Given the description of an element on the screen output the (x, y) to click on. 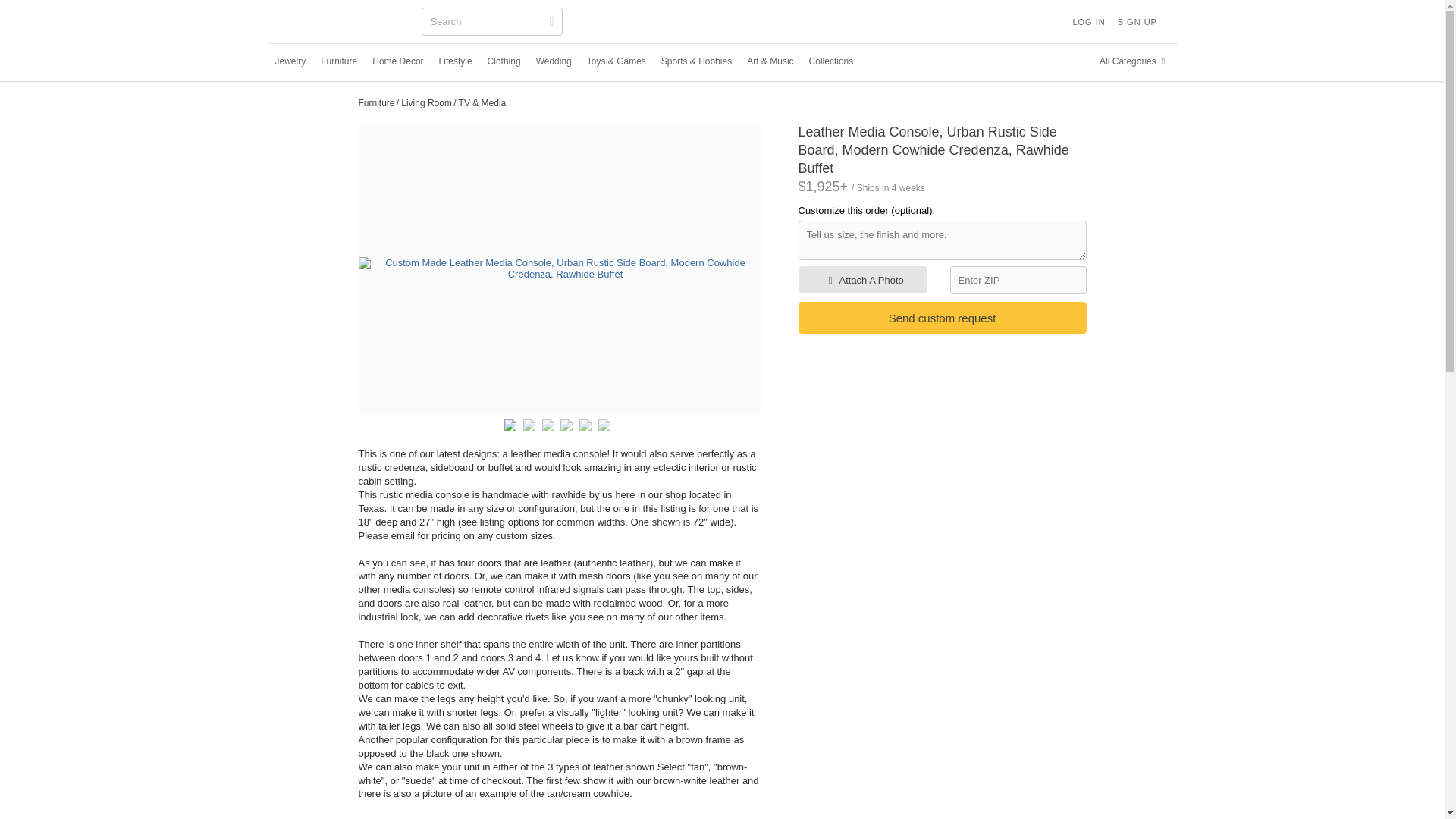
Log in to CustomMade (1087, 21)
Jewelry (289, 61)
Custom Jewelry (289, 61)
CUSTOMMADE (342, 22)
SIGN UP (1137, 21)
LOG IN (1087, 21)
All Categories (1134, 61)
